Given the description of an element on the screen output the (x, y) to click on. 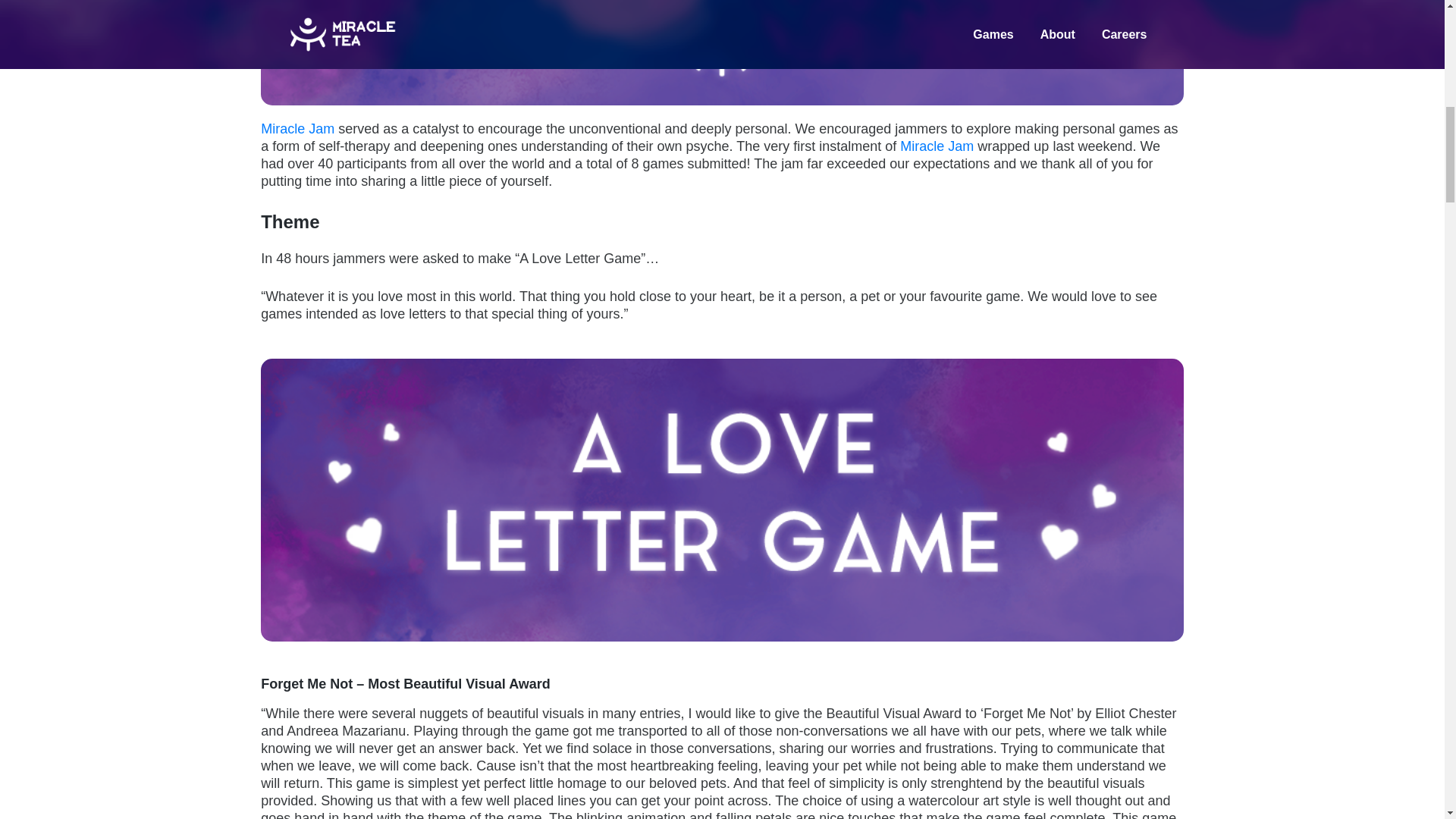
Miracle Jam (936, 145)
Miracle Jam (297, 128)
